Given the description of an element on the screen output the (x, y) to click on. 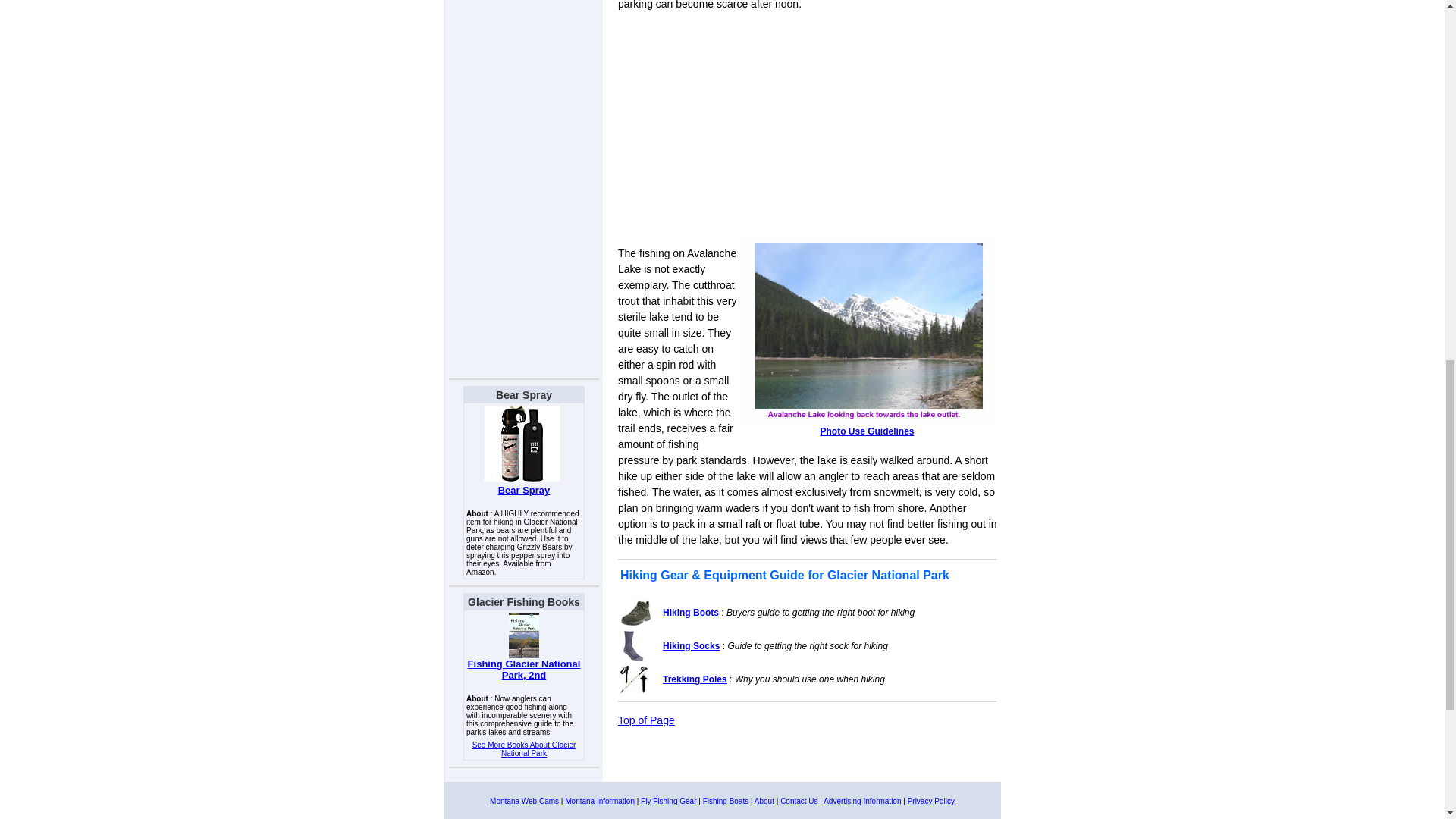
Fishing Boats (726, 800)
Trekking Poles (694, 679)
Photo Use Guidelines (866, 430)
Montana Web Cams (524, 800)
Hiking Socks (690, 645)
Advertisement (807, 128)
Fishing Glacier National Park, 2nd (523, 669)
Montana Information (599, 800)
Top of Page (646, 720)
Hiking Boots (690, 612)
